Given the description of an element on the screen output the (x, y) to click on. 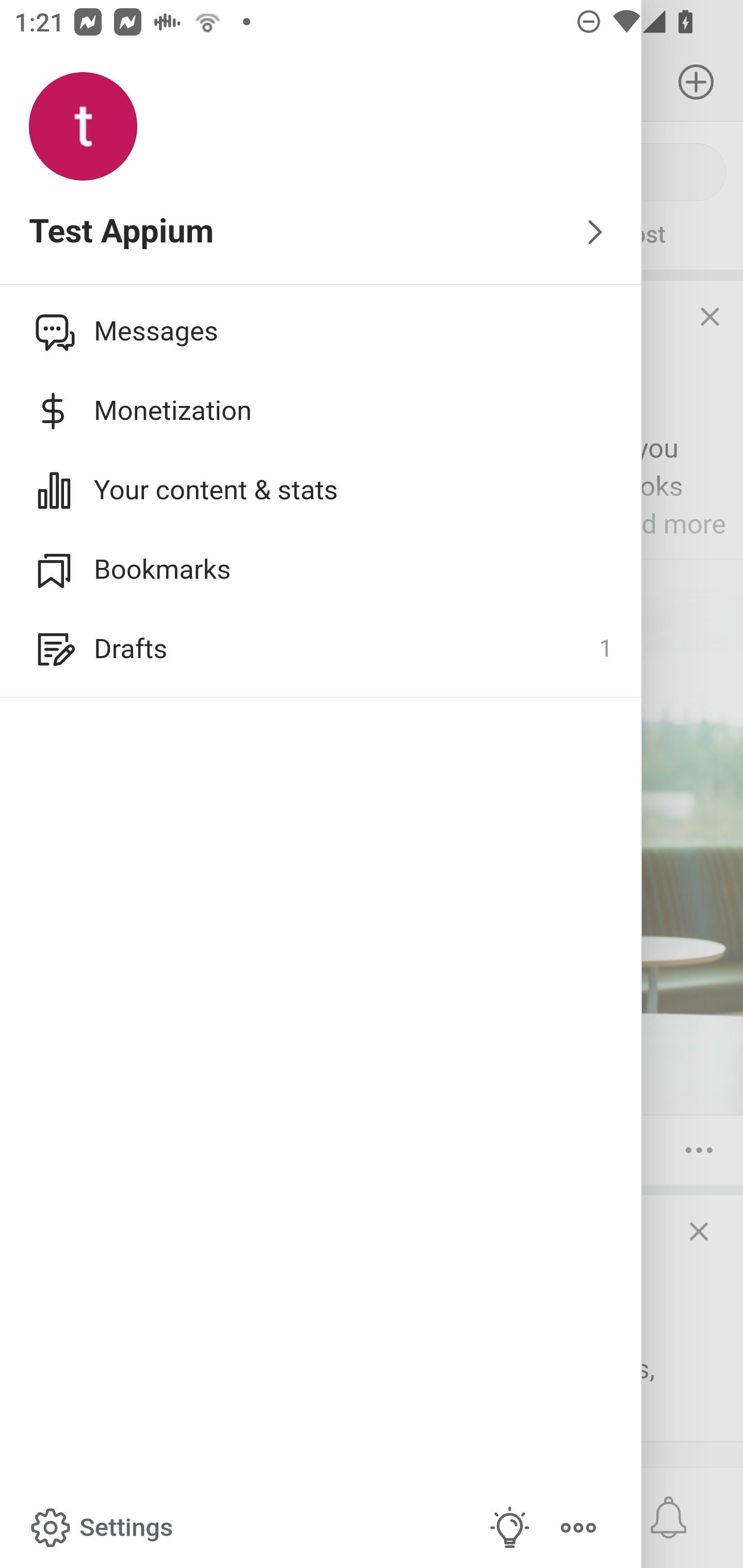
Profile photo for Test Appium (82, 126)
Test Appium (321, 232)
Messages (321, 330)
Icon for Books that influenced You (50, 330)
Monetization (321, 410)
Your content & stats (321, 489)
Bookmarks (321, 568)
Drafts 1 Drafts 1 (321, 648)
1 (605, 648)
Settings (99, 1527)
More (578, 1527)
